Given the description of an element on the screen output the (x, y) to click on. 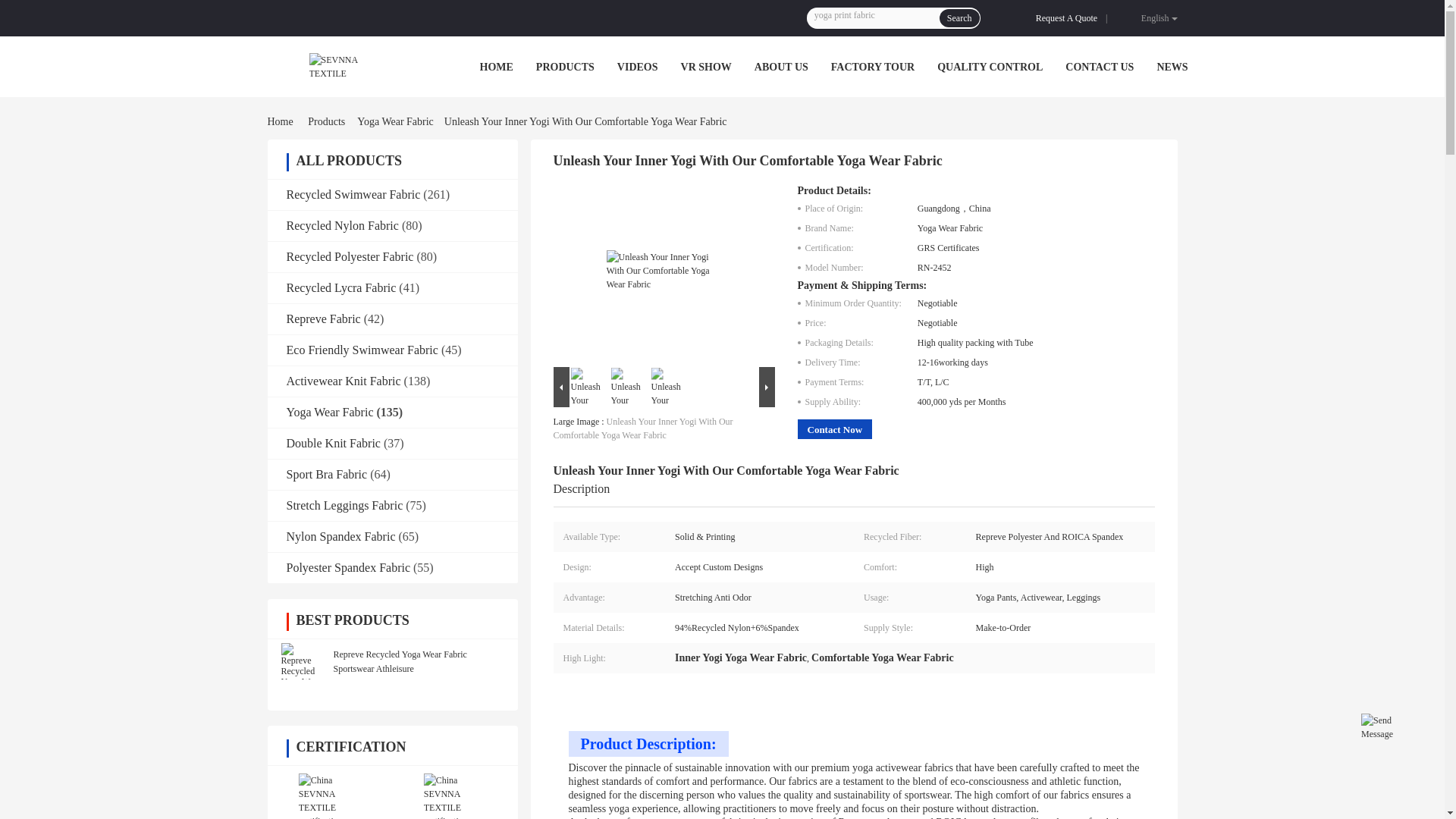
FACTORY TOUR (872, 66)
Request A Quote (1069, 18)
NEWS (1172, 66)
QUALITY CONTROL (989, 66)
Yoga Wear Fabric (394, 121)
CONTACT US (1099, 66)
Home (282, 121)
Recycled Nylon Fabric (342, 225)
HOME (495, 66)
VR SHOW (706, 66)
